Given the description of an element on the screen output the (x, y) to click on. 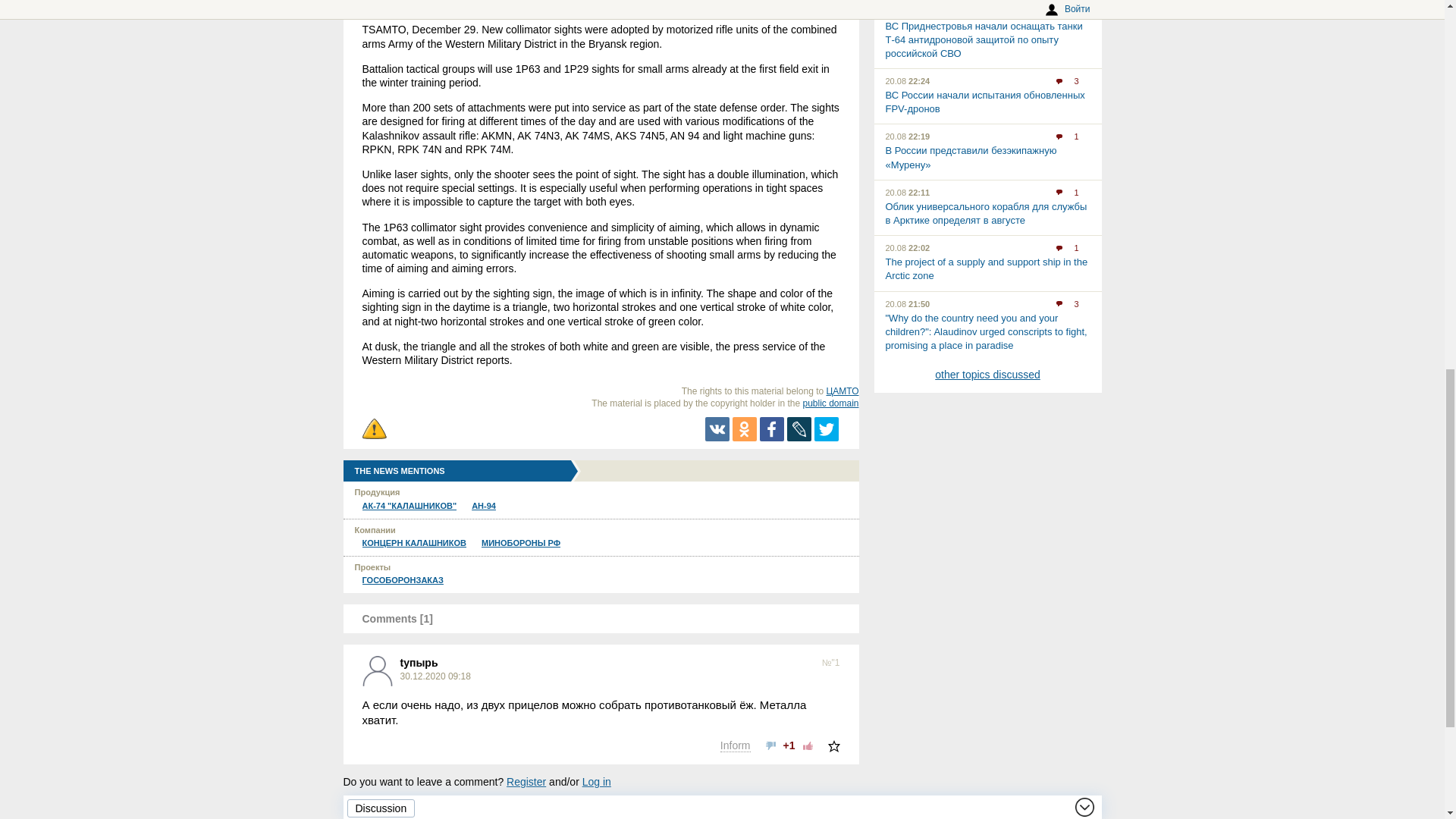
Report inaccuracies or errors in the material (374, 428)
Register (526, 781)
Log in via Facebook (449, 809)
Inform (735, 745)
public domain (830, 403)
Log in (596, 781)
